Given the description of an element on the screen output the (x, y) to click on. 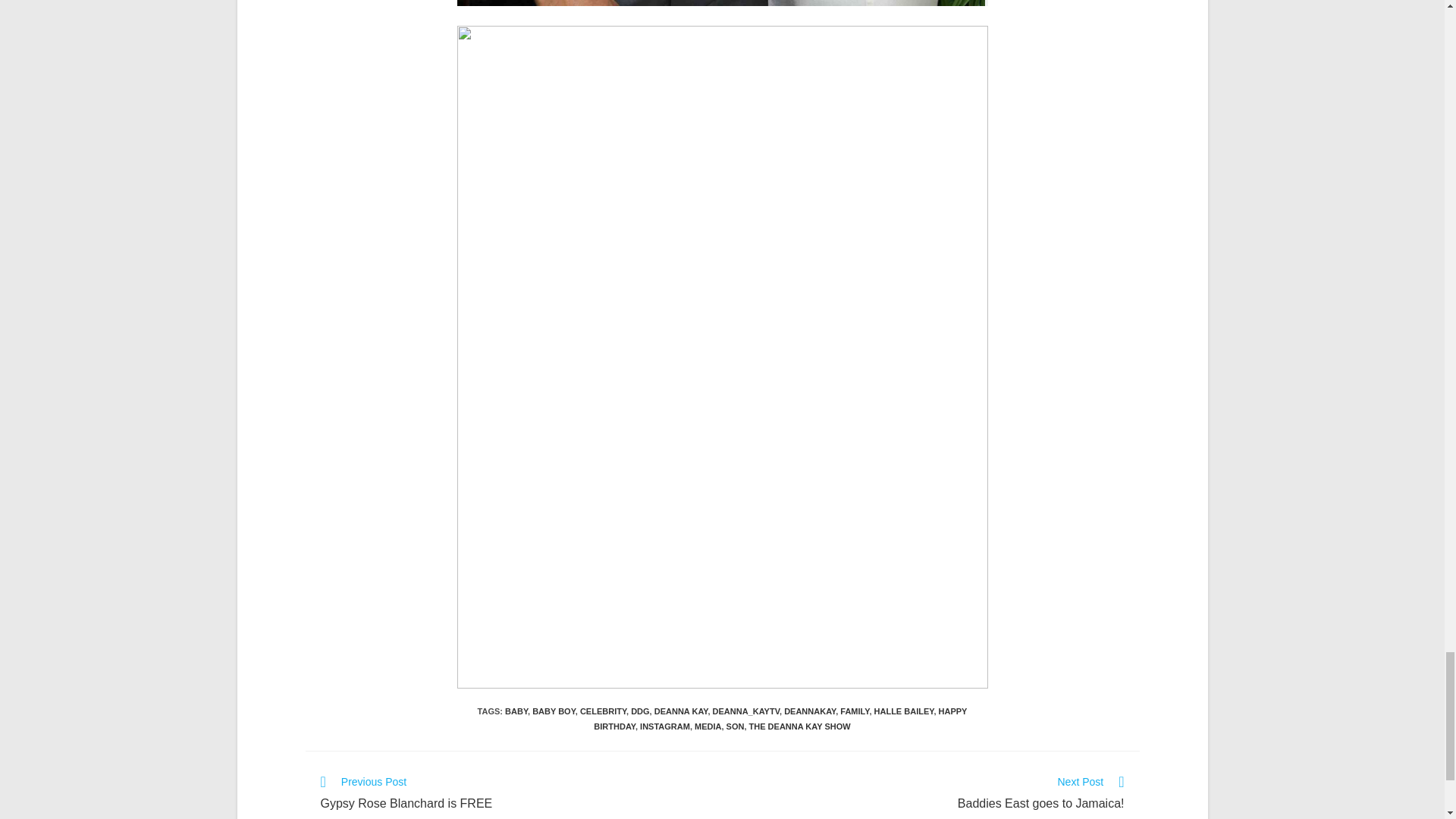
DEANNAKAY (809, 710)
BABY BOY (553, 710)
CELEBRITY (602, 710)
BABY (516, 710)
DDG (639, 710)
DEANNA KAY (680, 710)
